Given the description of an element on the screen output the (x, y) to click on. 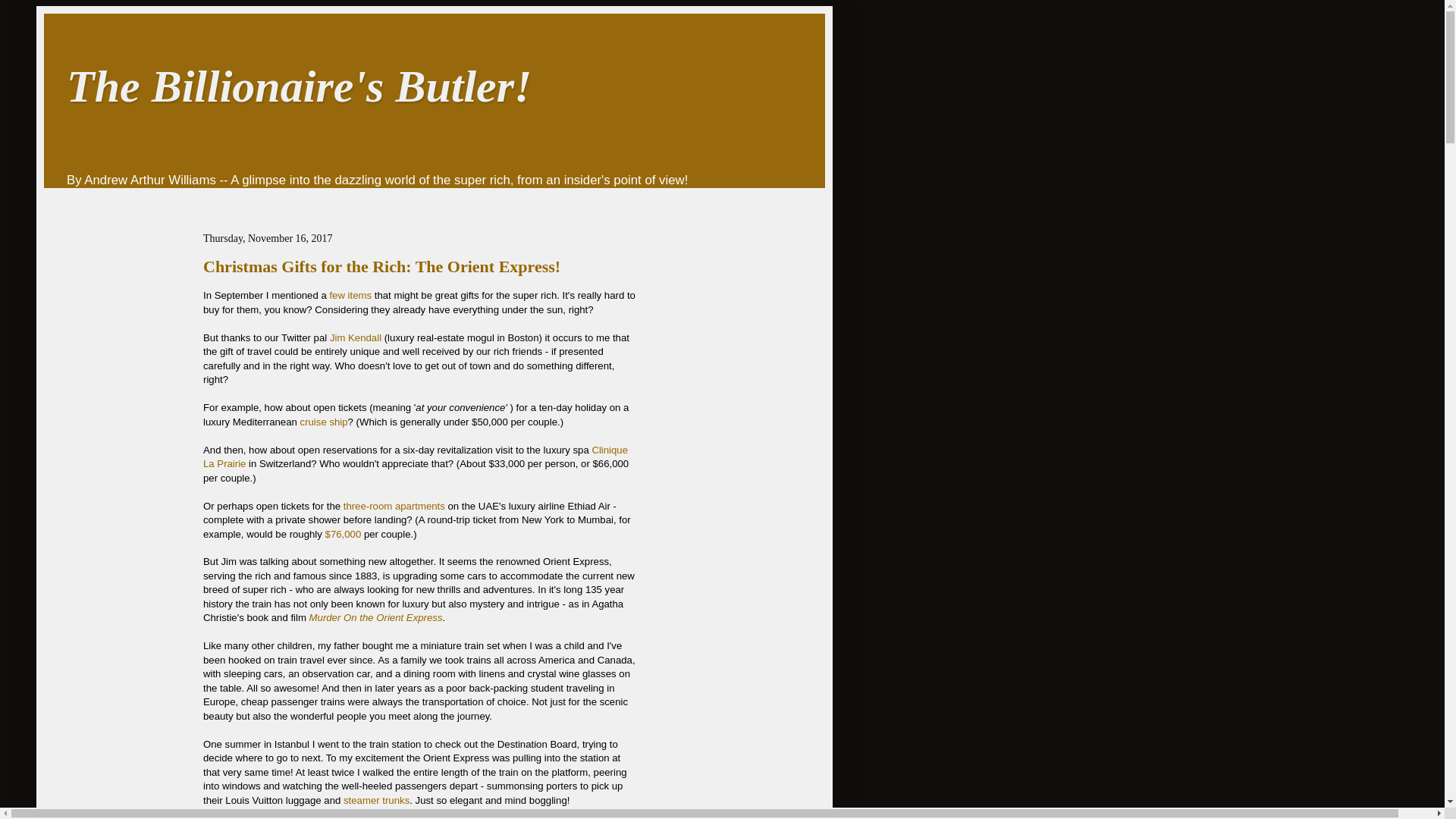
Christmas Gifts for the Rich: The Orient Express! (381, 266)
Clinique La Prairie (415, 456)
few items (350, 295)
three-room apartments (394, 505)
Murder On the Orient Express (375, 617)
steamer trunks (376, 799)
cruise ship (323, 421)
The Billionaire's Butler! (298, 86)
Jim Kendall (355, 337)
